Given the description of an element on the screen output the (x, y) to click on. 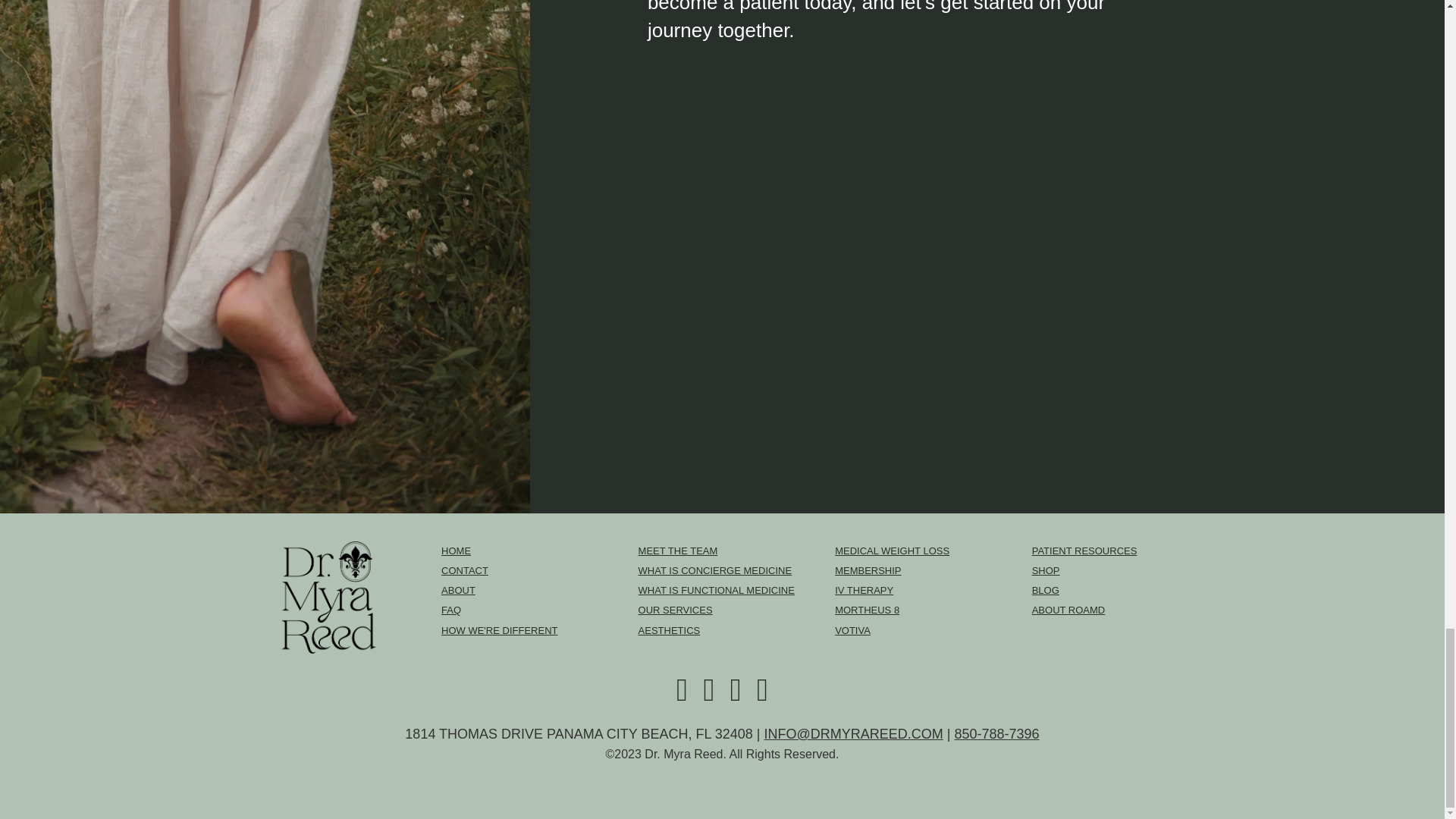
Herb Picture in Hand (681, 696)
Herb Picture in Hand (735, 696)
Herb Picture in Hand (708, 696)
